Given the description of an element on the screen output the (x, y) to click on. 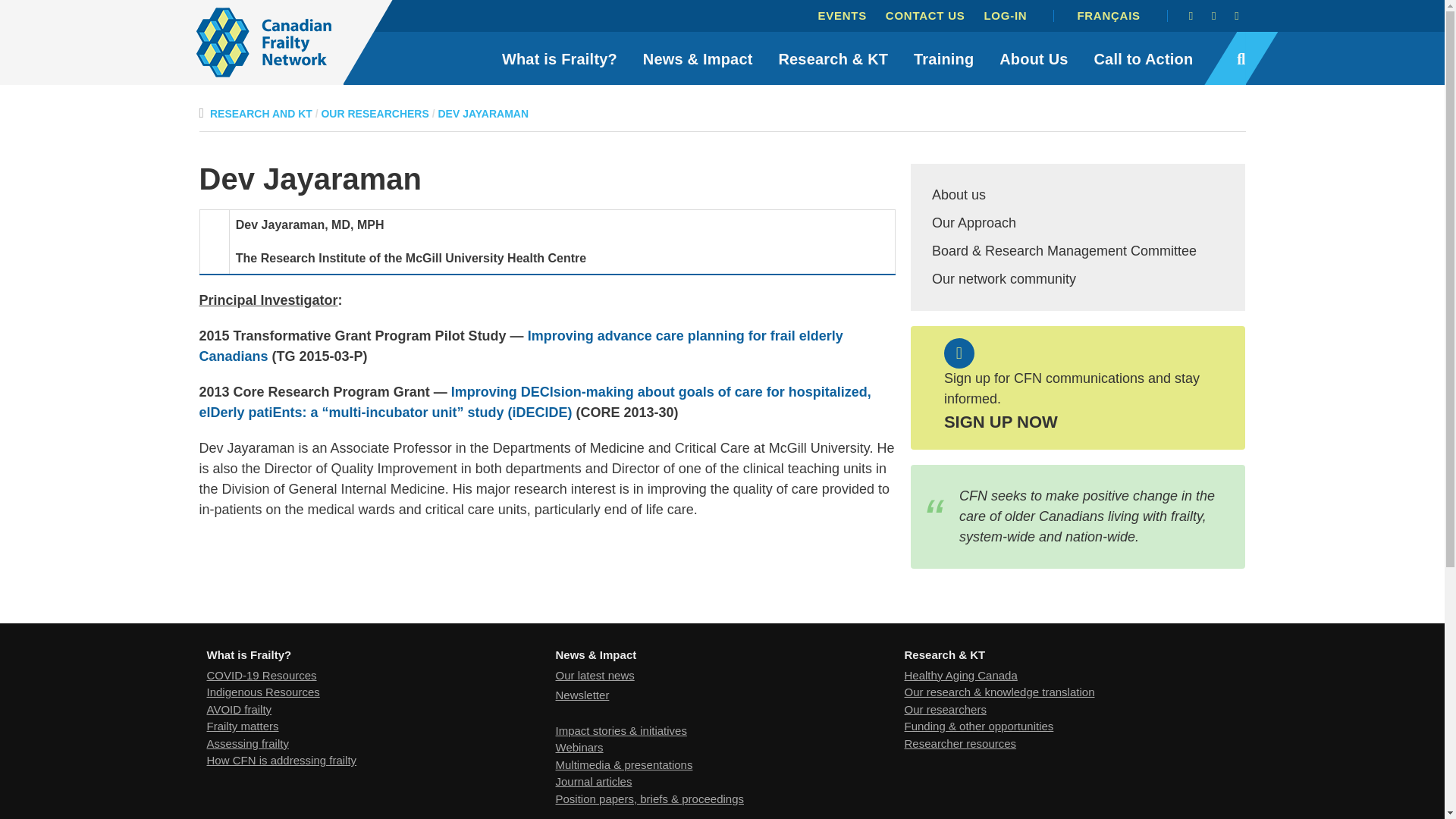
CORE2013-30 You (534, 402)
LOG-IN (1004, 15)
About Us (1032, 58)
TG2015-03-P You (520, 345)
Go to Our researchers. (374, 113)
EVENTS (842, 15)
What is Frailty? (559, 58)
Training (944, 58)
Go to Dev Jayaraman. (483, 113)
CONTACT US (924, 15)
Go to Research and KT. (261, 113)
